Given the description of an element on the screen output the (x, y) to click on. 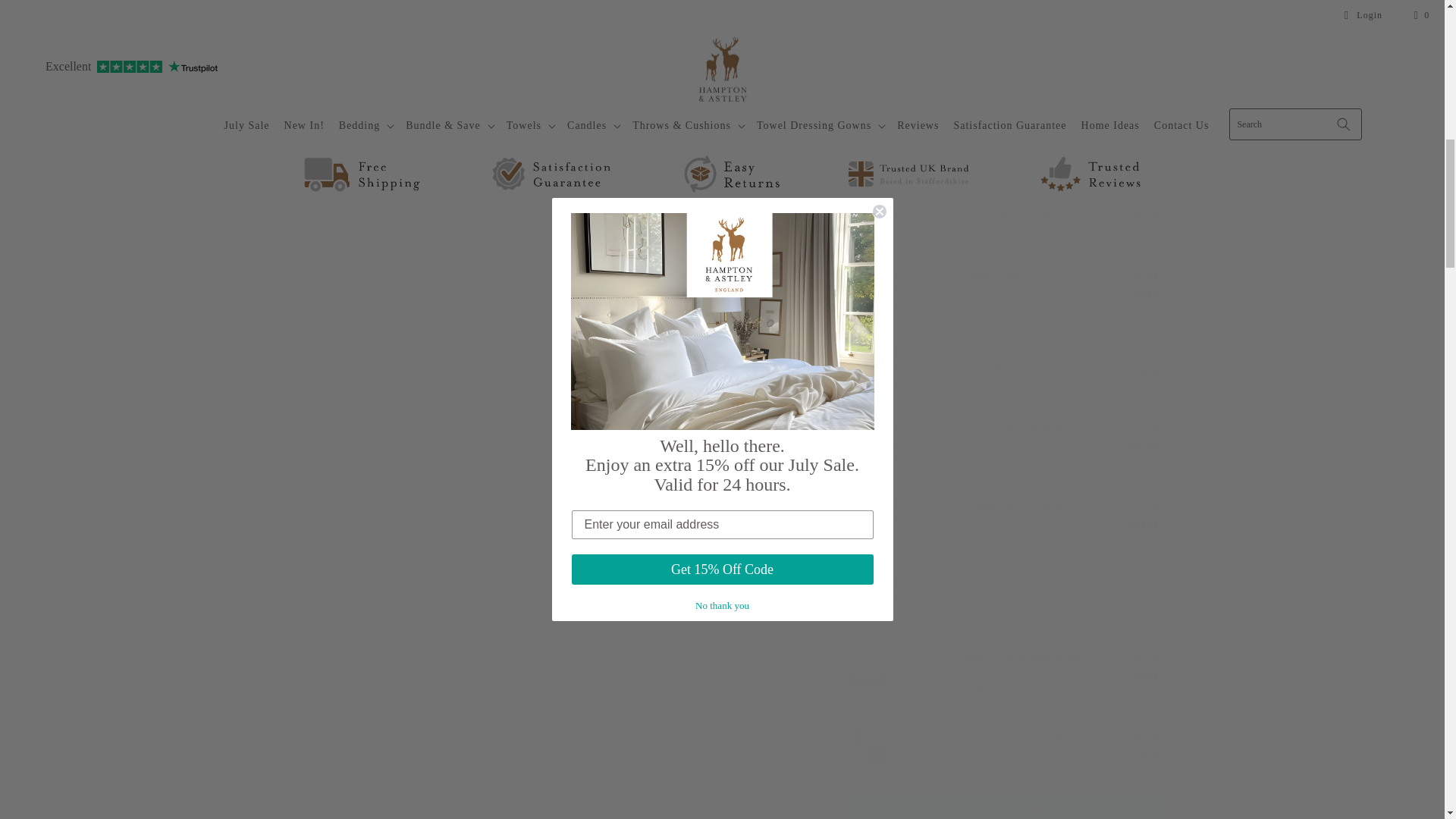
0 (1129, 7)
0 (1129, 309)
0 (1129, 385)
0 (1129, 615)
0 (1129, 538)
0 (1129, 691)
0 (1129, 462)
0 (1129, 232)
0 (1129, 155)
0 (1129, 78)
0 (1129, 768)
